Given the description of an element on the screen output the (x, y) to click on. 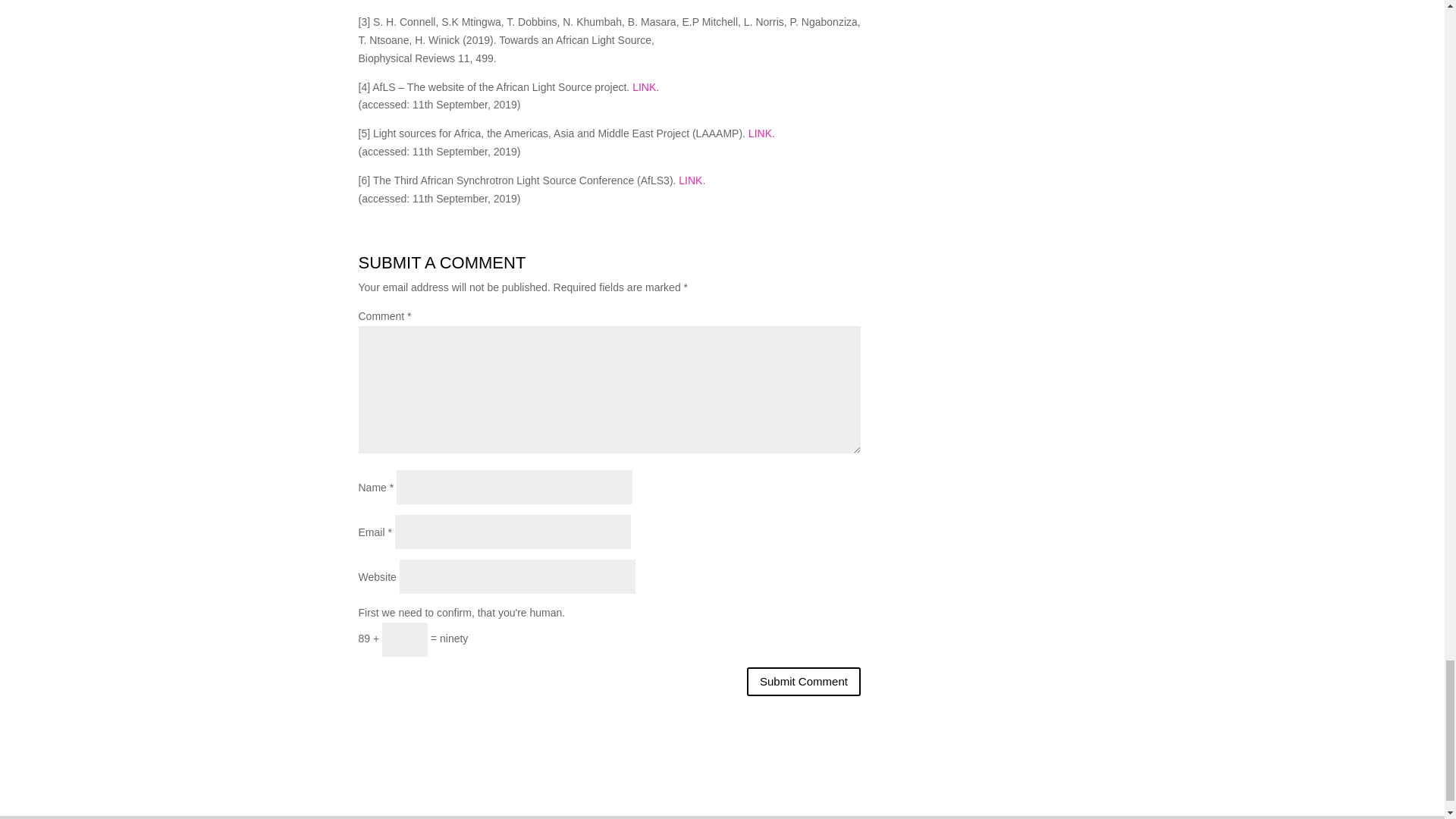
LINK (643, 87)
LINK (689, 180)
Submit Comment (803, 681)
Submit Comment (803, 681)
LINK (759, 133)
